Given the description of an element on the screen output the (x, y) to click on. 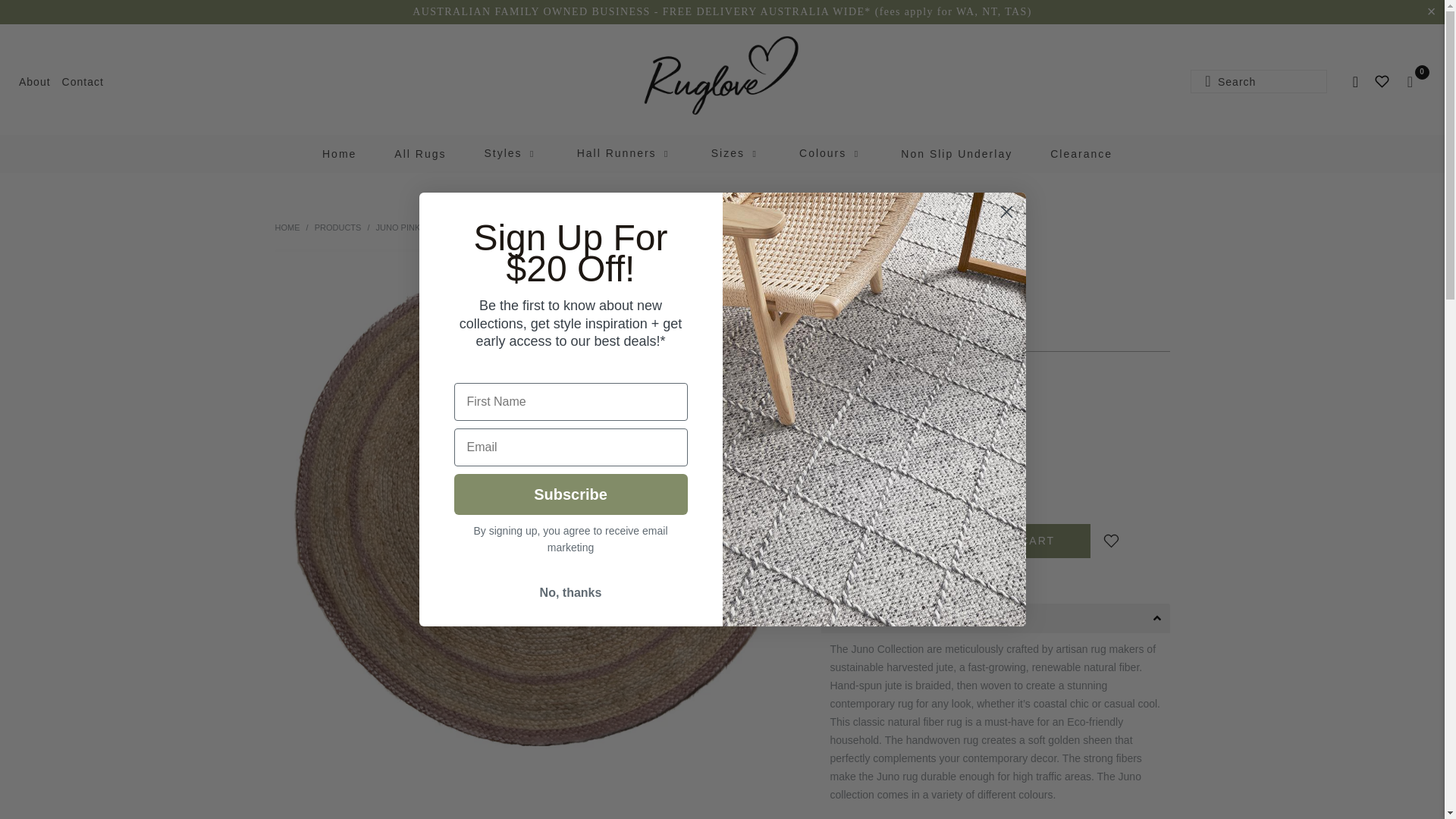
RugLove (722, 76)
1 (873, 540)
Products (337, 226)
RugLove (287, 226)
My Account  (1353, 81)
